Given the description of an element on the screen output the (x, y) to click on. 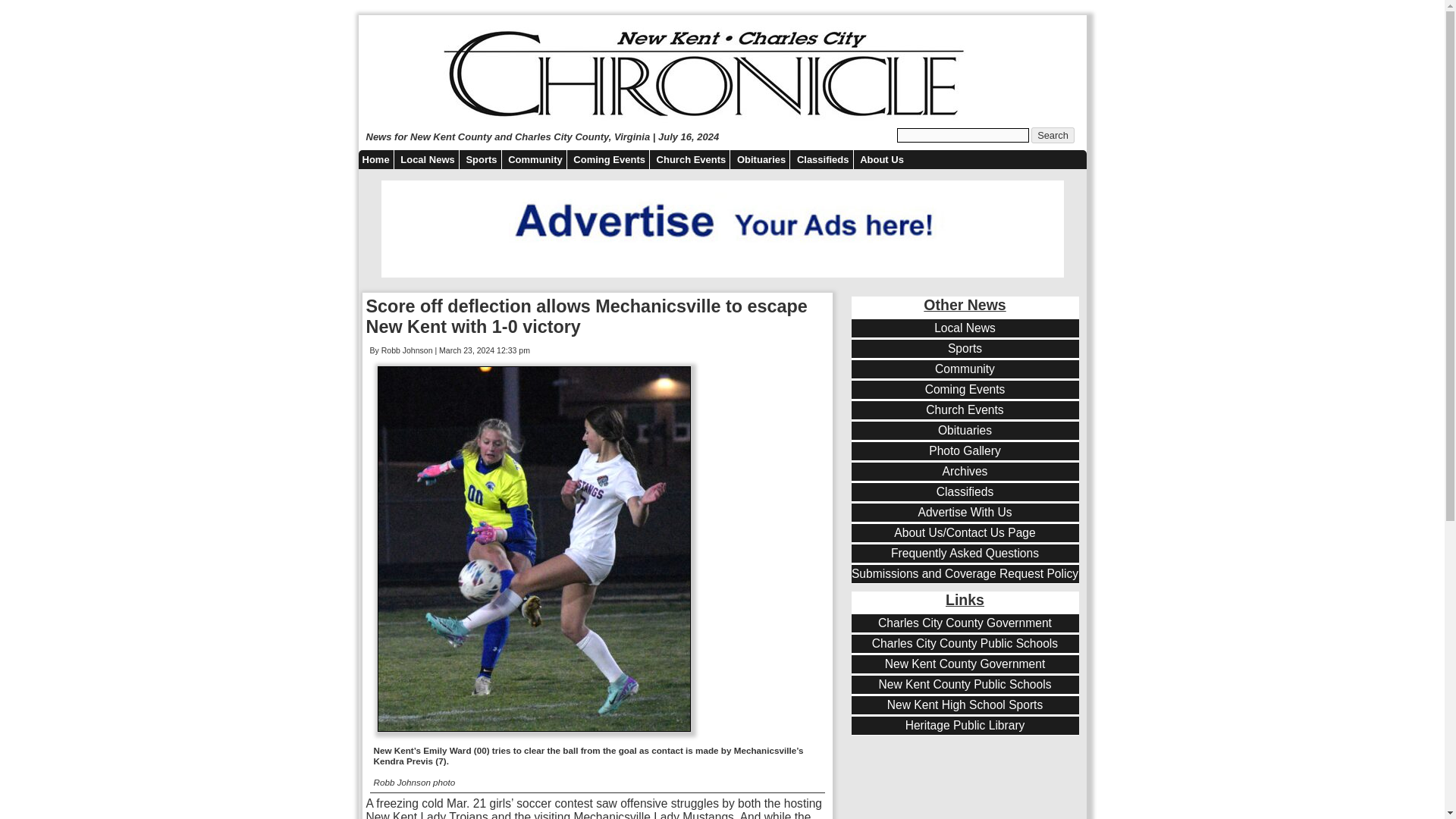
Search (1052, 135)
Charles City County Public Schools (964, 643)
Submissions and Coverage Request Policy (964, 573)
Sports (964, 348)
About Us (881, 158)
Classifieds (823, 158)
Community (964, 368)
Church Events (964, 409)
Charles City County Government (964, 622)
Sports (480, 158)
Search (1052, 135)
Advertise With Us (964, 512)
New Kent County Public Schools (964, 684)
Coming Events (609, 158)
Archives (964, 471)
